Given the description of an element on the screen output the (x, y) to click on. 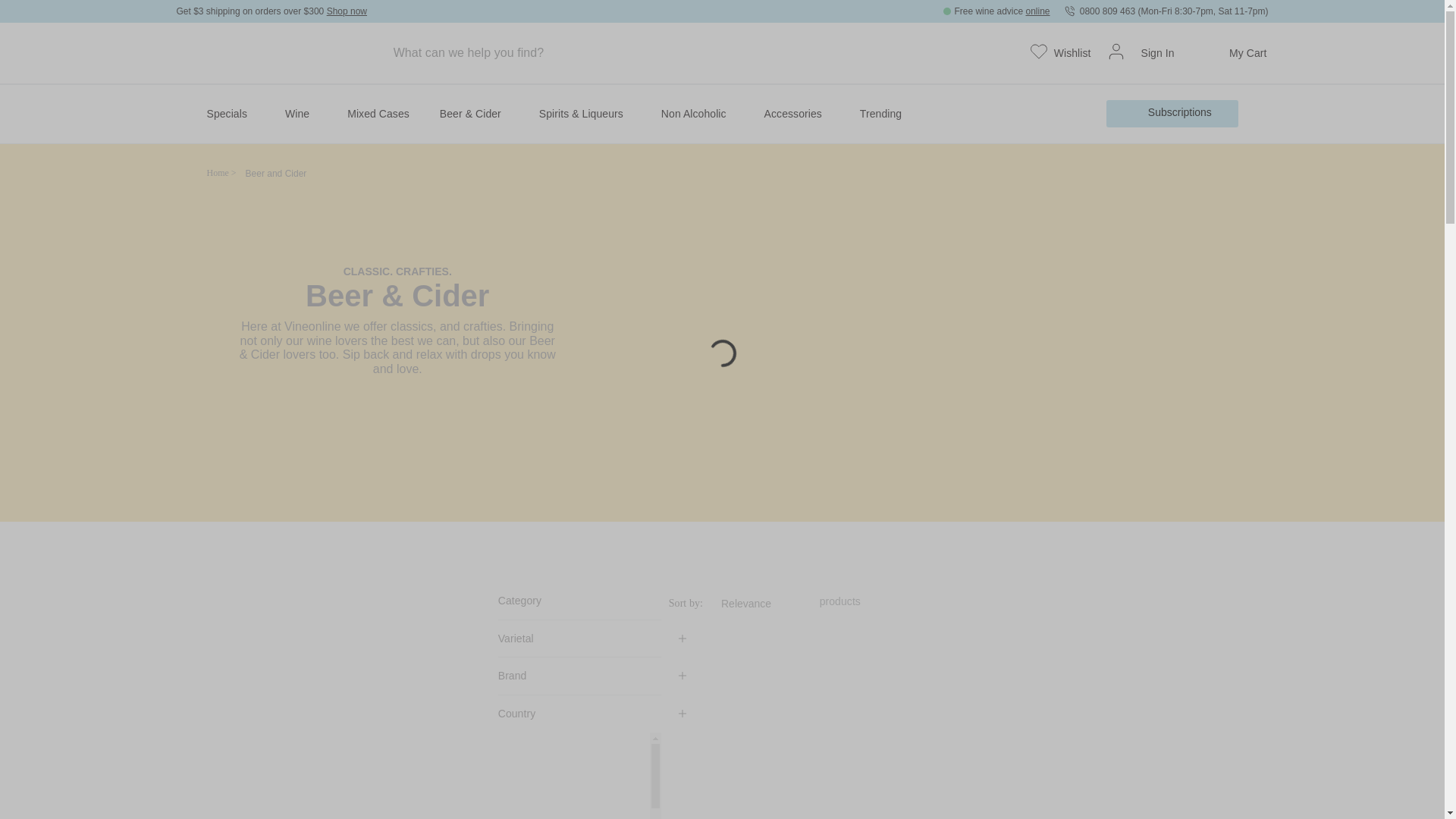
online (1037, 10)
Specials (229, 113)
Shop now (346, 10)
Wine (301, 113)
